Given the description of an element on the screen output the (x, y) to click on. 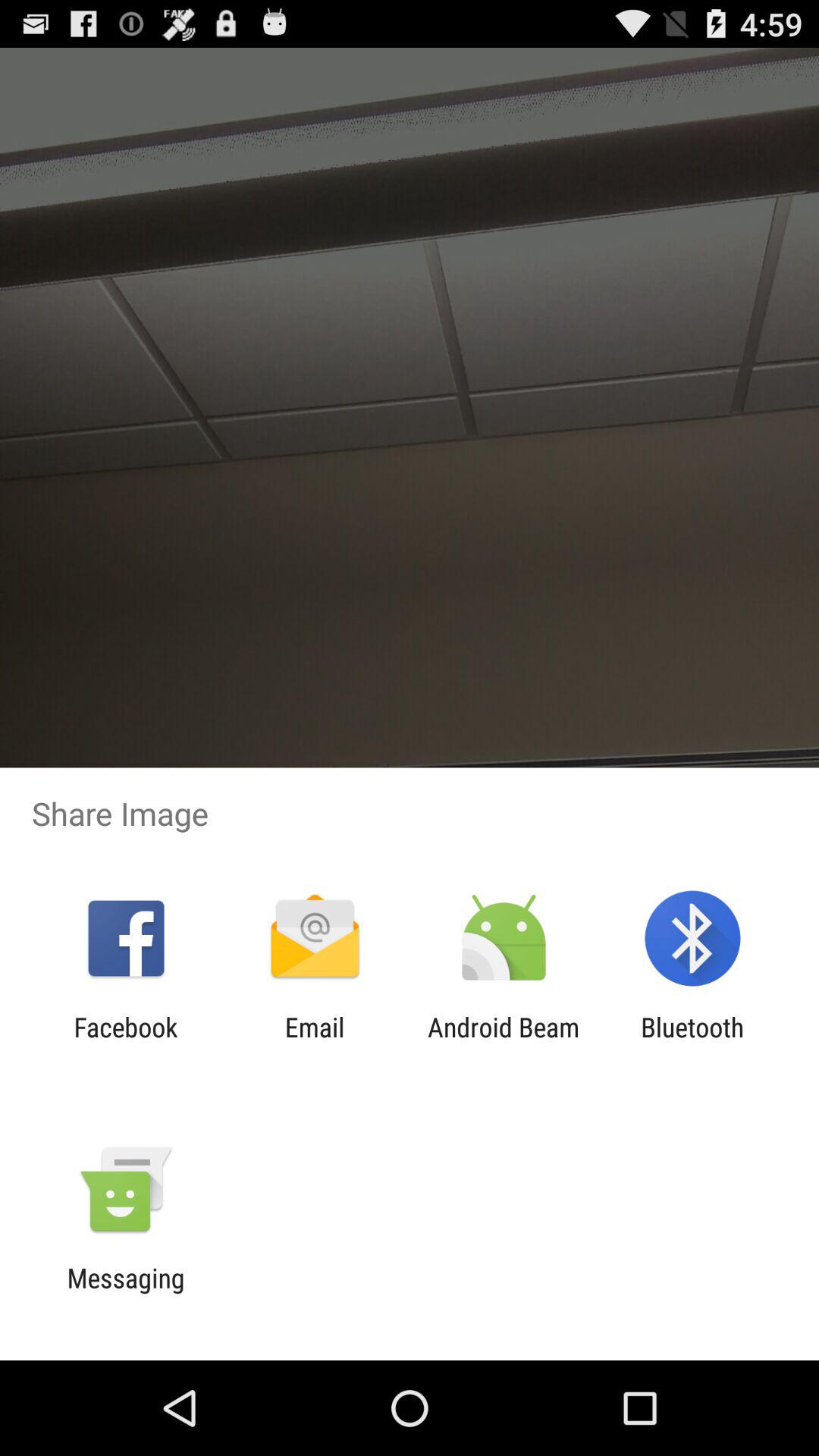
launch the item to the left of the email app (125, 1042)
